Given the description of an element on the screen output the (x, y) to click on. 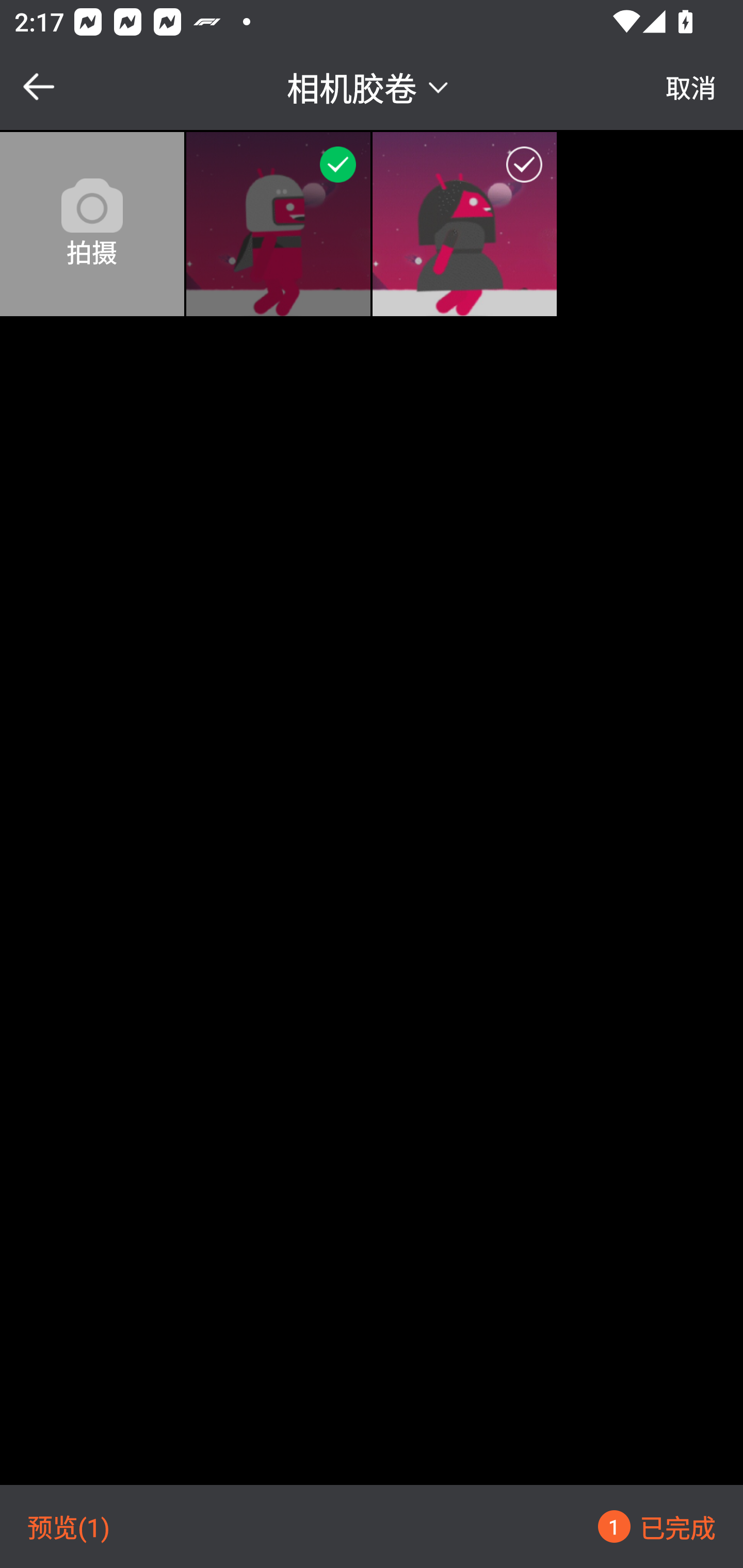
取消 (690, 86)
相机胶卷 (370, 85)
拍摄 (92, 223)
预览(1) (68, 1526)
1 已完成 (656, 1526)
